Given the description of an element on the screen output the (x, y) to click on. 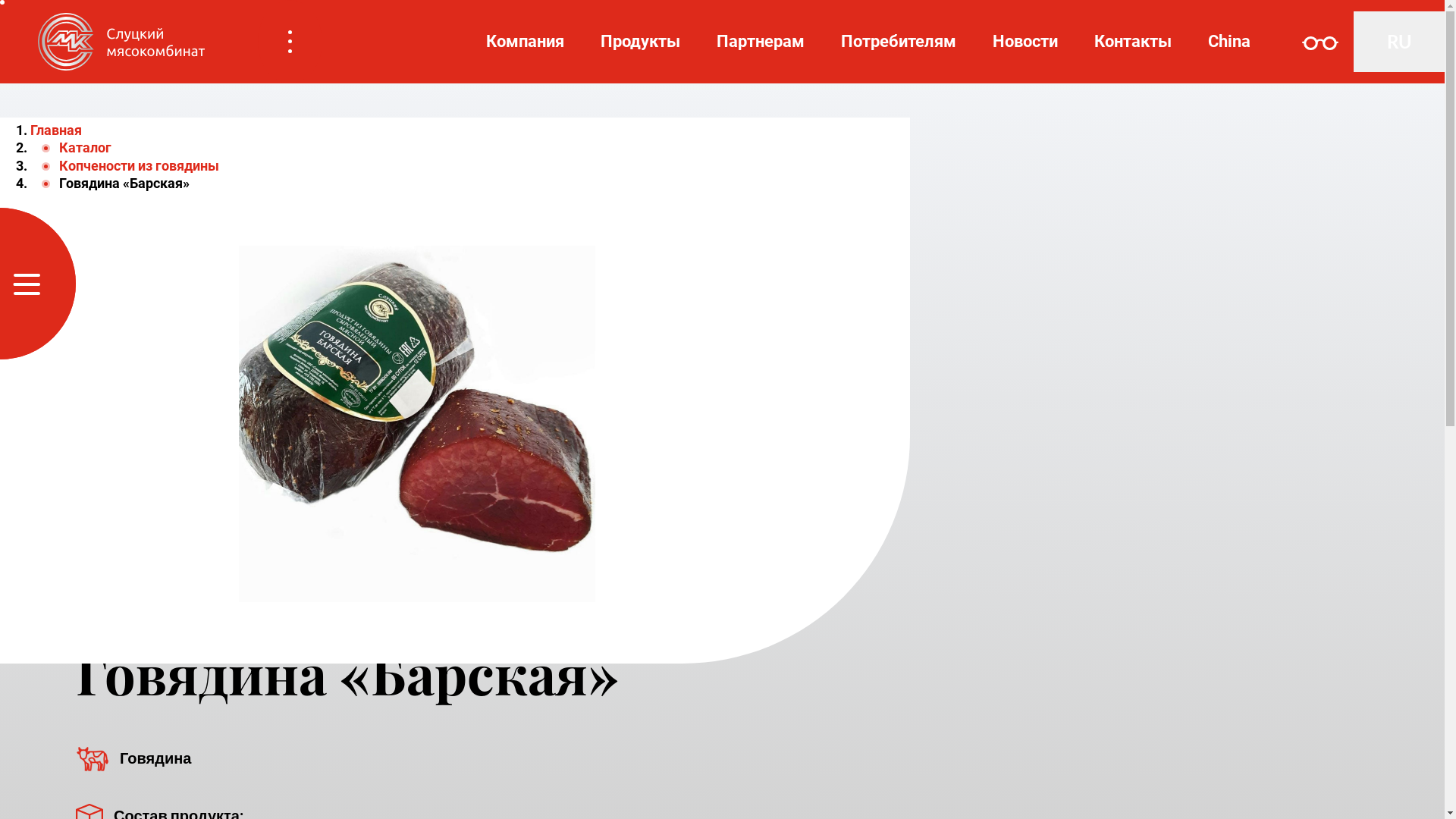
China Element type: text (1229, 40)
RU Element type: text (1398, 41)
